Given the description of an element on the screen output the (x, y) to click on. 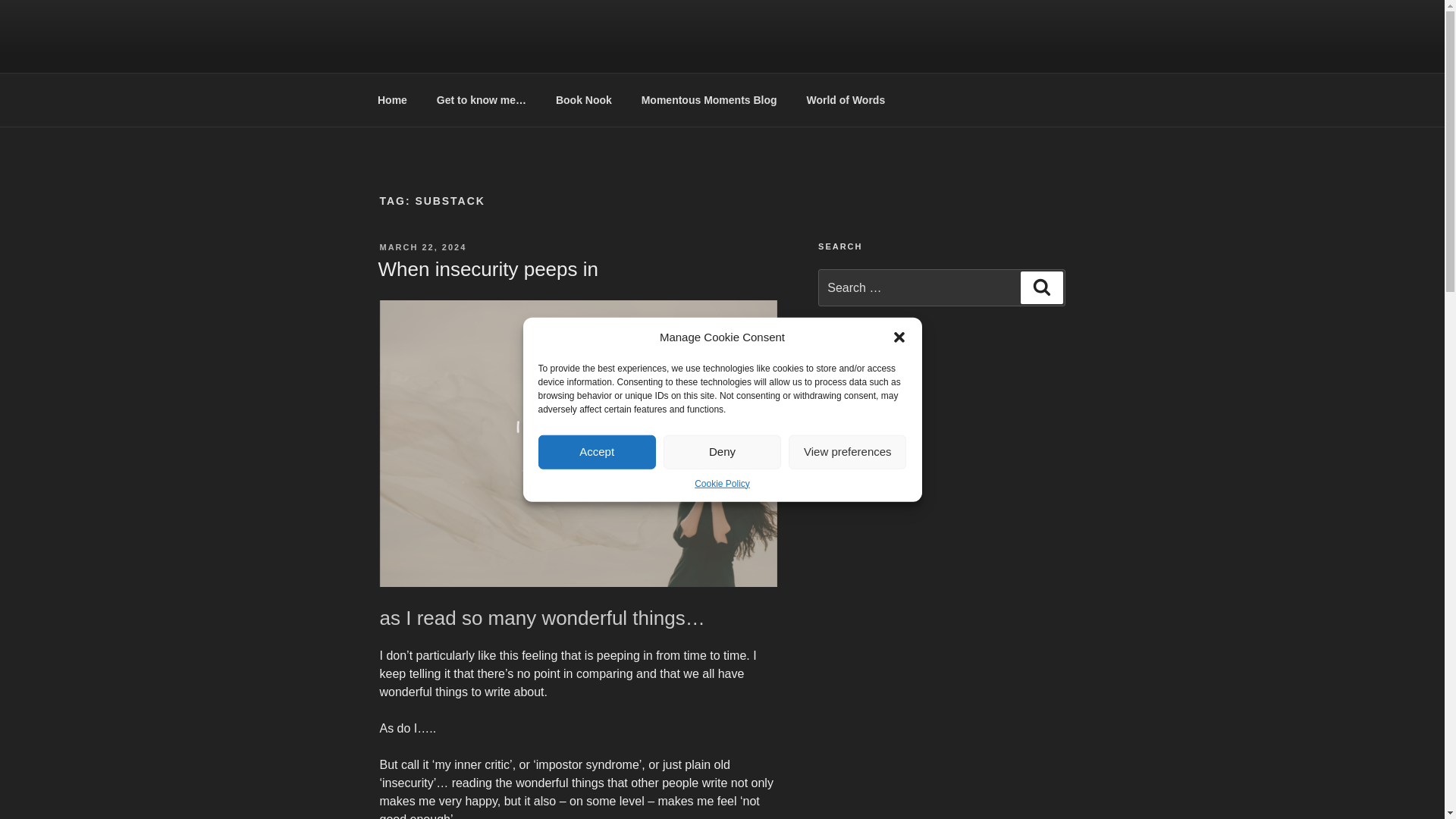
World of Words (845, 99)
Home (392, 99)
MOMENTOUS MOMENTS (560, 52)
Search (1041, 287)
Deny (721, 451)
Book Nook (582, 99)
View preferences (847, 451)
MARCH 22, 2024 (421, 246)
Accept (597, 451)
Cookie Policy (721, 482)
